Given the description of an element on the screen output the (x, y) to click on. 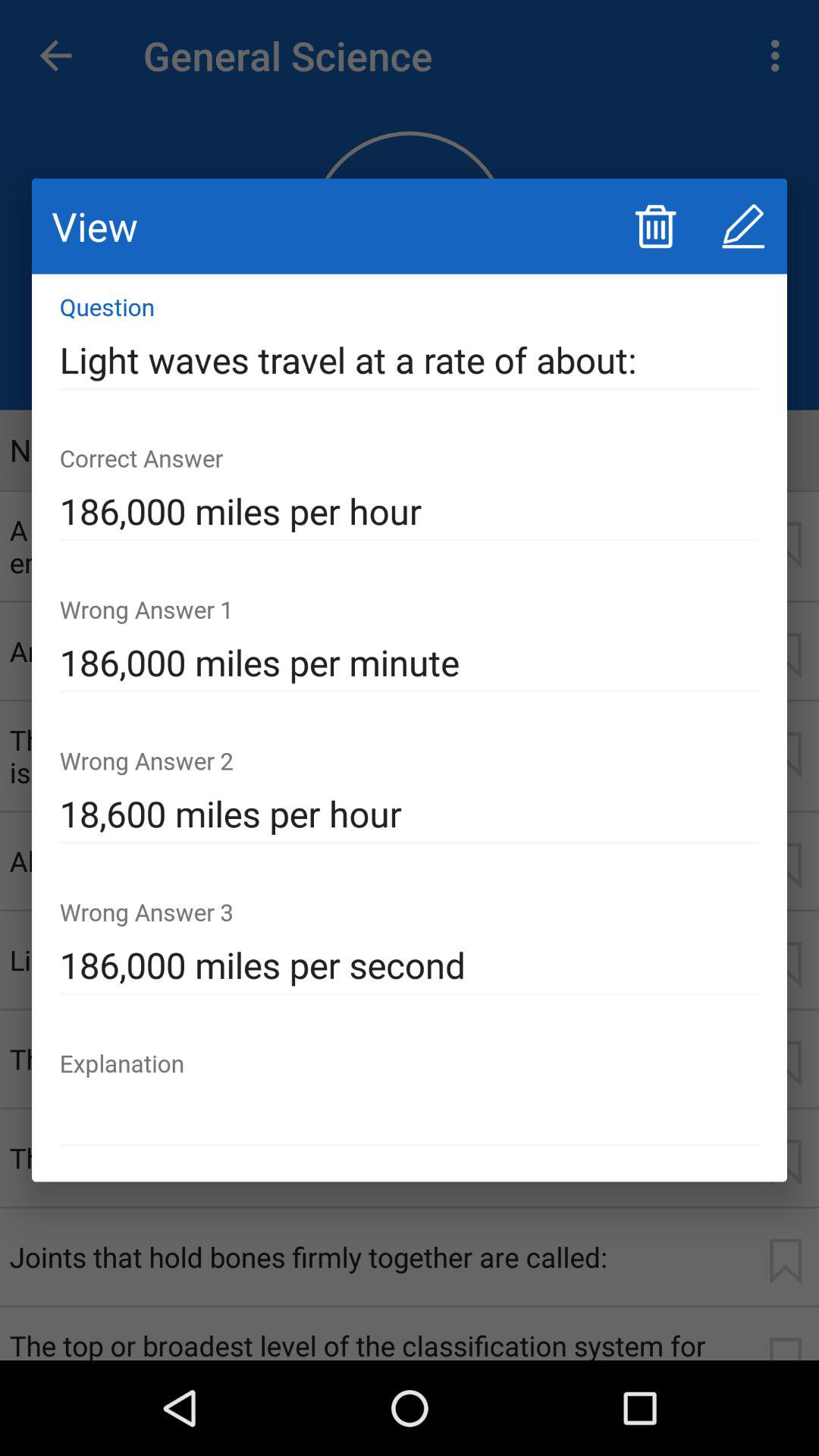
click icon at the top (409, 360)
